Given the description of an element on the screen output the (x, y) to click on. 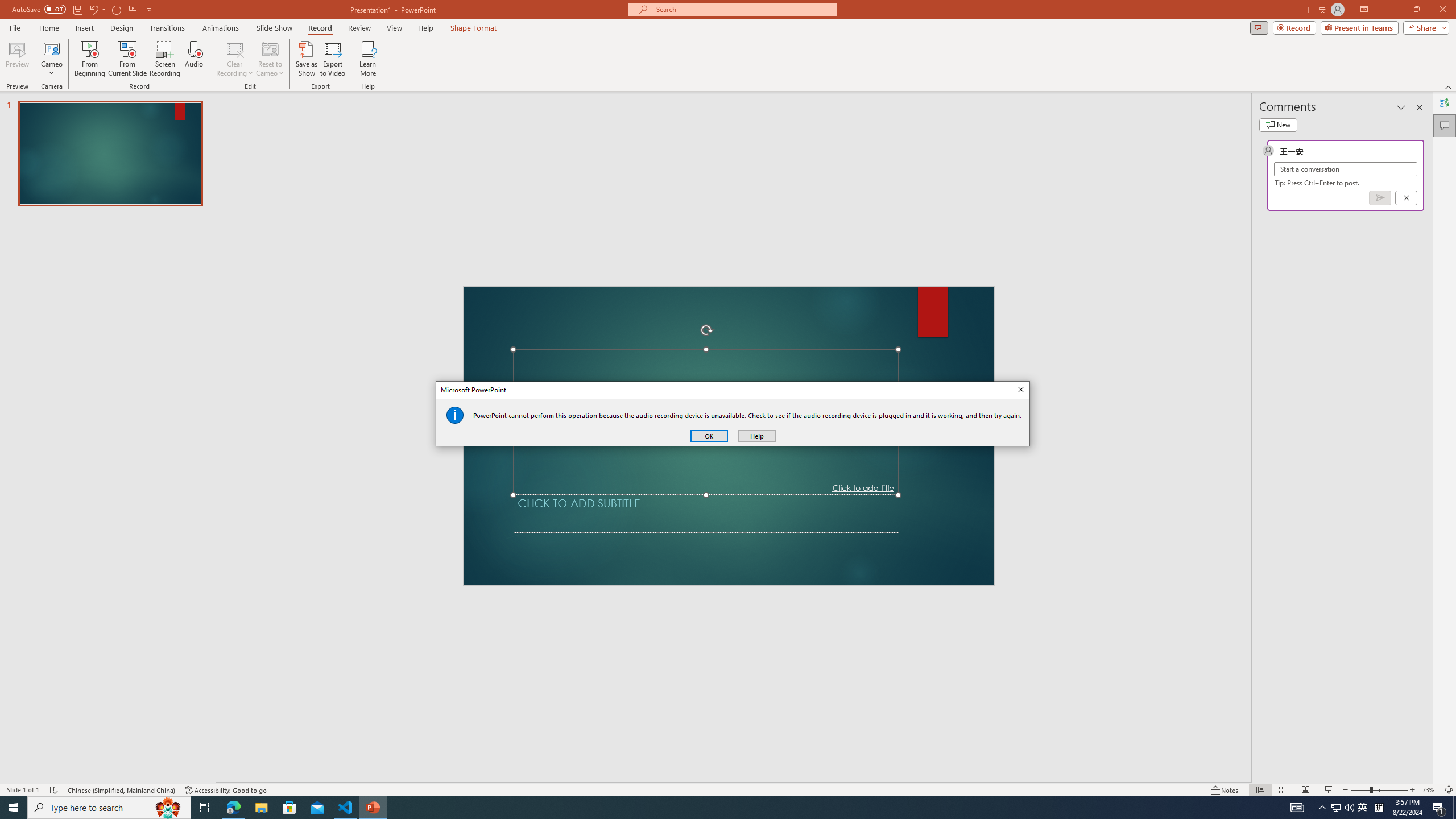
Start a conversation (1344, 168)
